Given the description of an element on the screen output the (x, y) to click on. 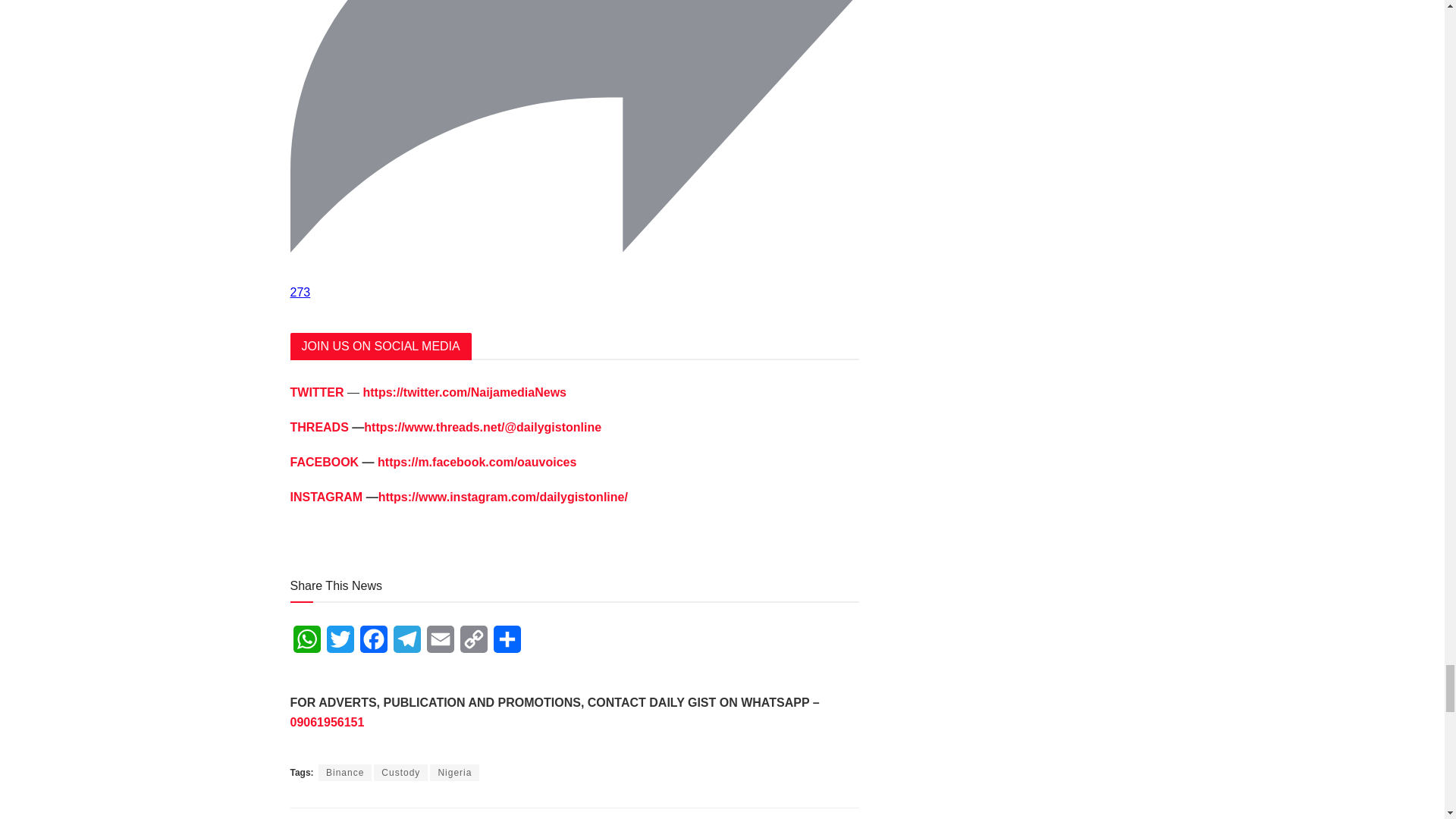
Twitter (339, 643)
WhatsApp (306, 643)
Facebook (373, 643)
